Given the description of an element on the screen output the (x, y) to click on. 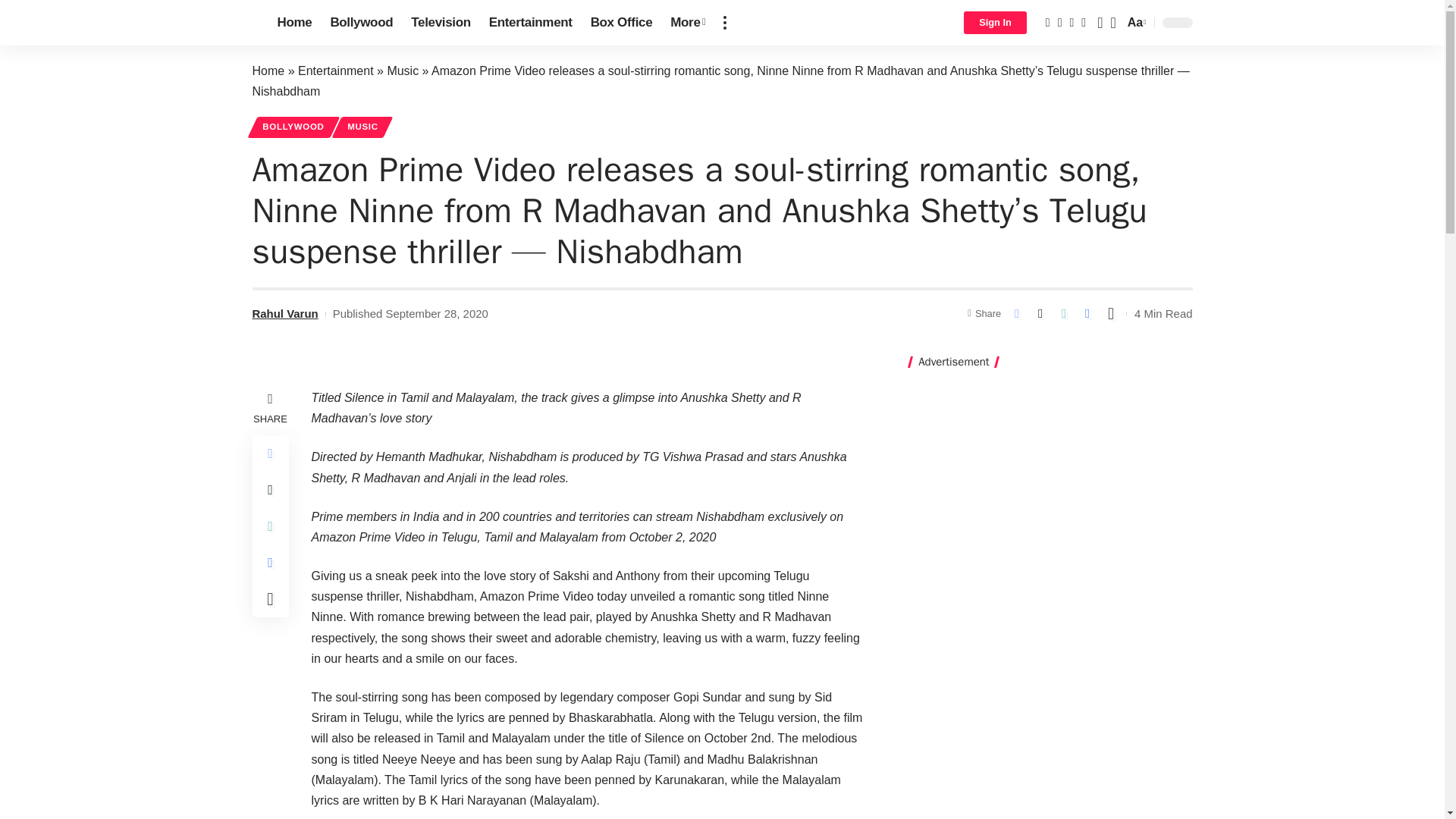
Bollywood (360, 22)
More (687, 22)
Box Office (621, 22)
Aa (1135, 22)
Sign In (994, 22)
Home (294, 22)
Entertainment (530, 22)
Television (440, 22)
